Given the description of an element on the screen output the (x, y) to click on. 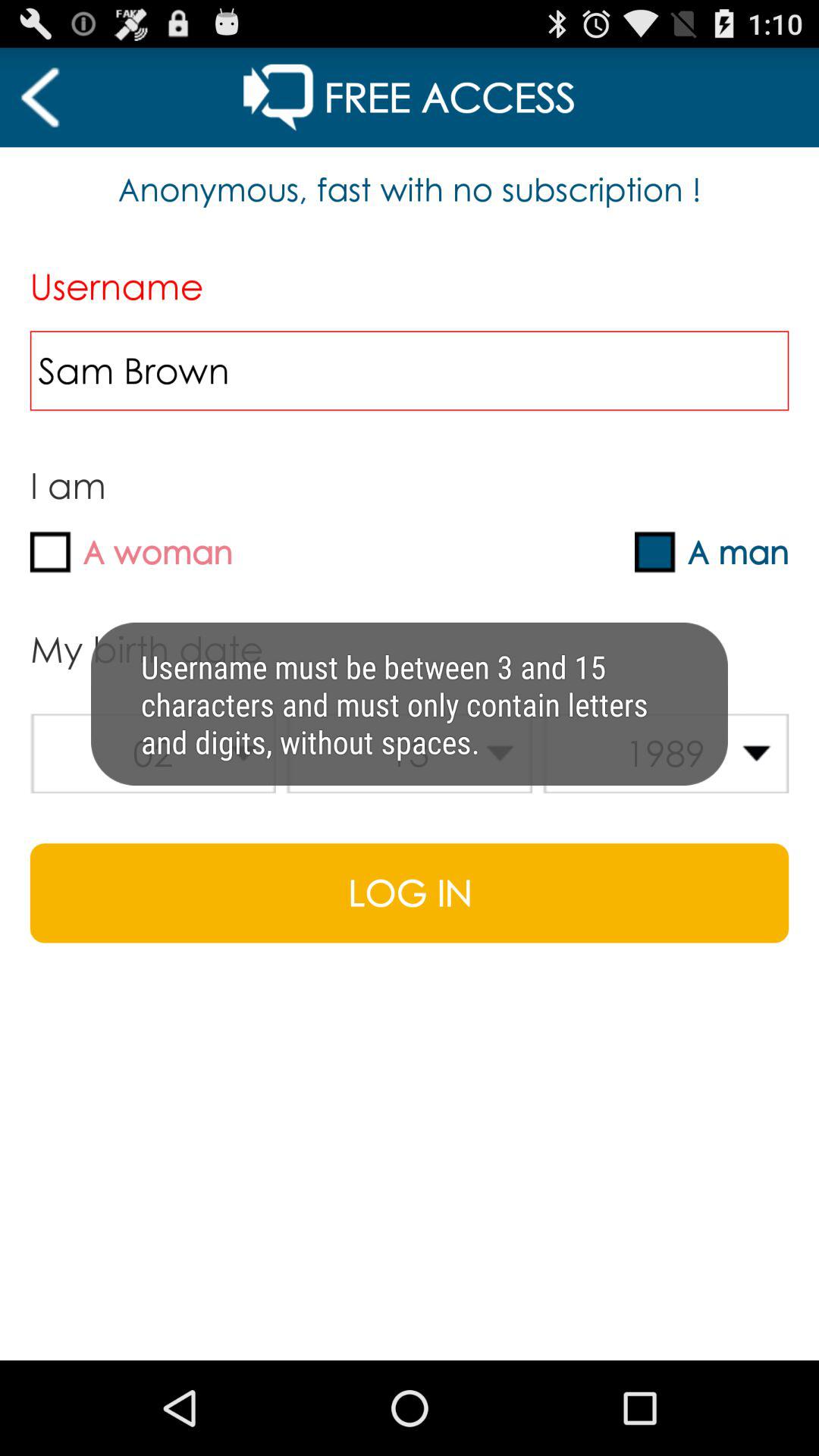
previous button (39, 97)
